Given the description of an element on the screen output the (x, y) to click on. 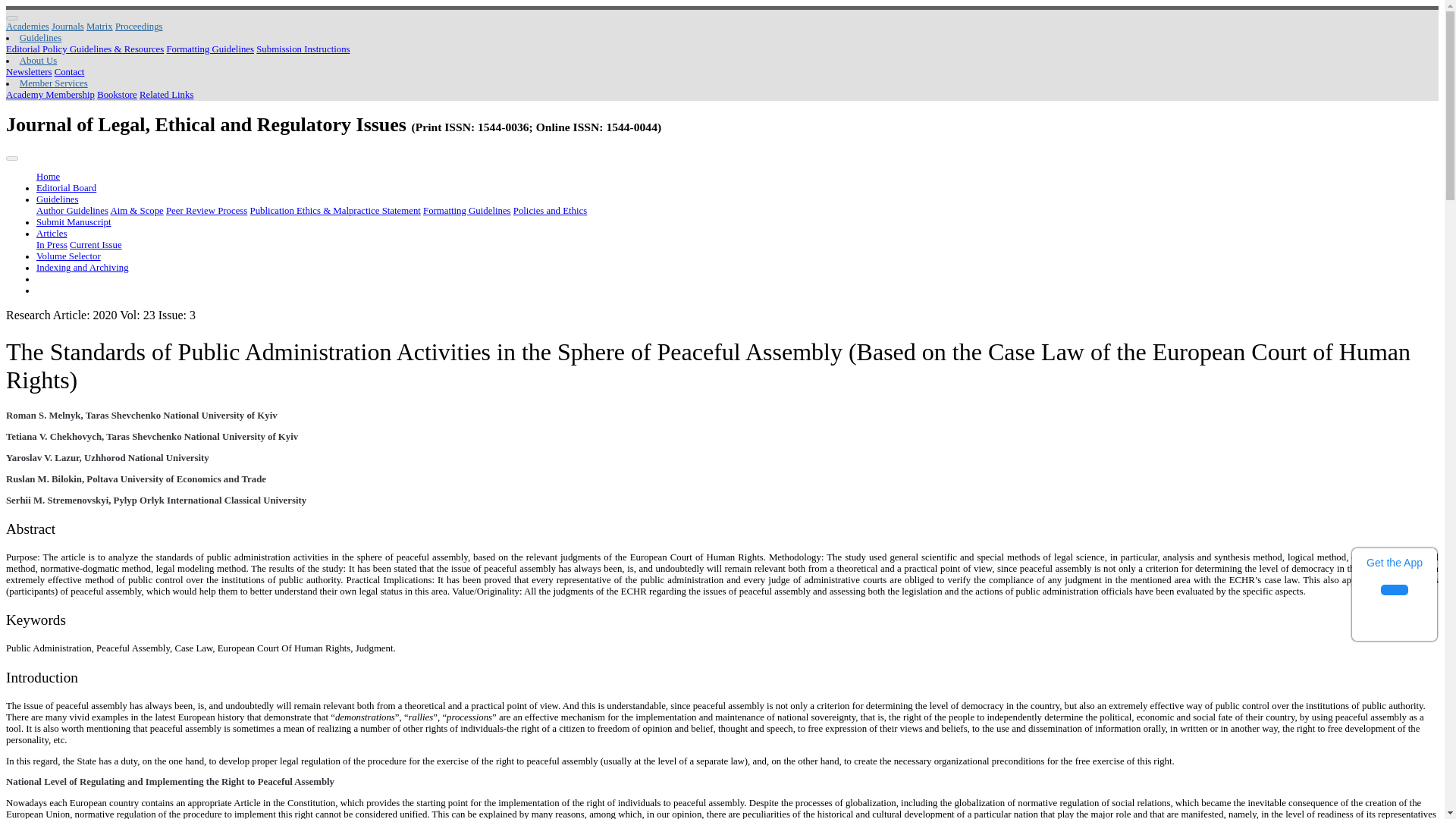
Academy Membership (49, 94)
Formatting guidelines (467, 210)
Submission Instructions (302, 49)
Click here (166, 94)
Submit Manuscript (73, 222)
Member Services (53, 82)
Guidelines (57, 199)
Click here (209, 49)
Click here (84, 49)
Matrix (99, 26)
Click here (139, 26)
Indexing and Archiving (82, 267)
Academies (27, 26)
Policies and Ethics (549, 210)
Author Guidelines (71, 210)
